Given the description of an element on the screen output the (x, y) to click on. 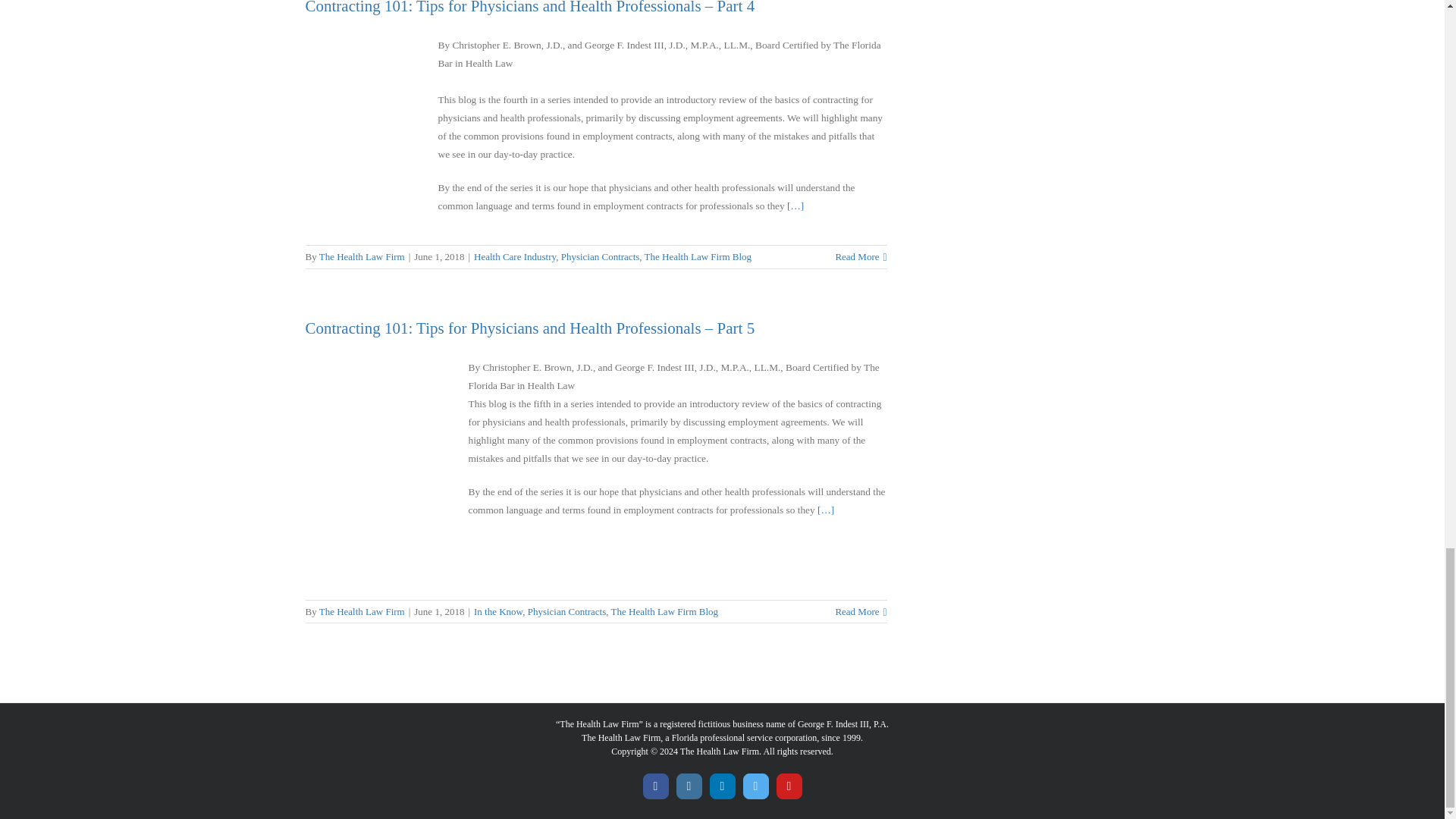
Posts by The Health Law Firm (361, 256)
Posts by The Health Law Firm (361, 611)
